Given the description of an element on the screen output the (x, y) to click on. 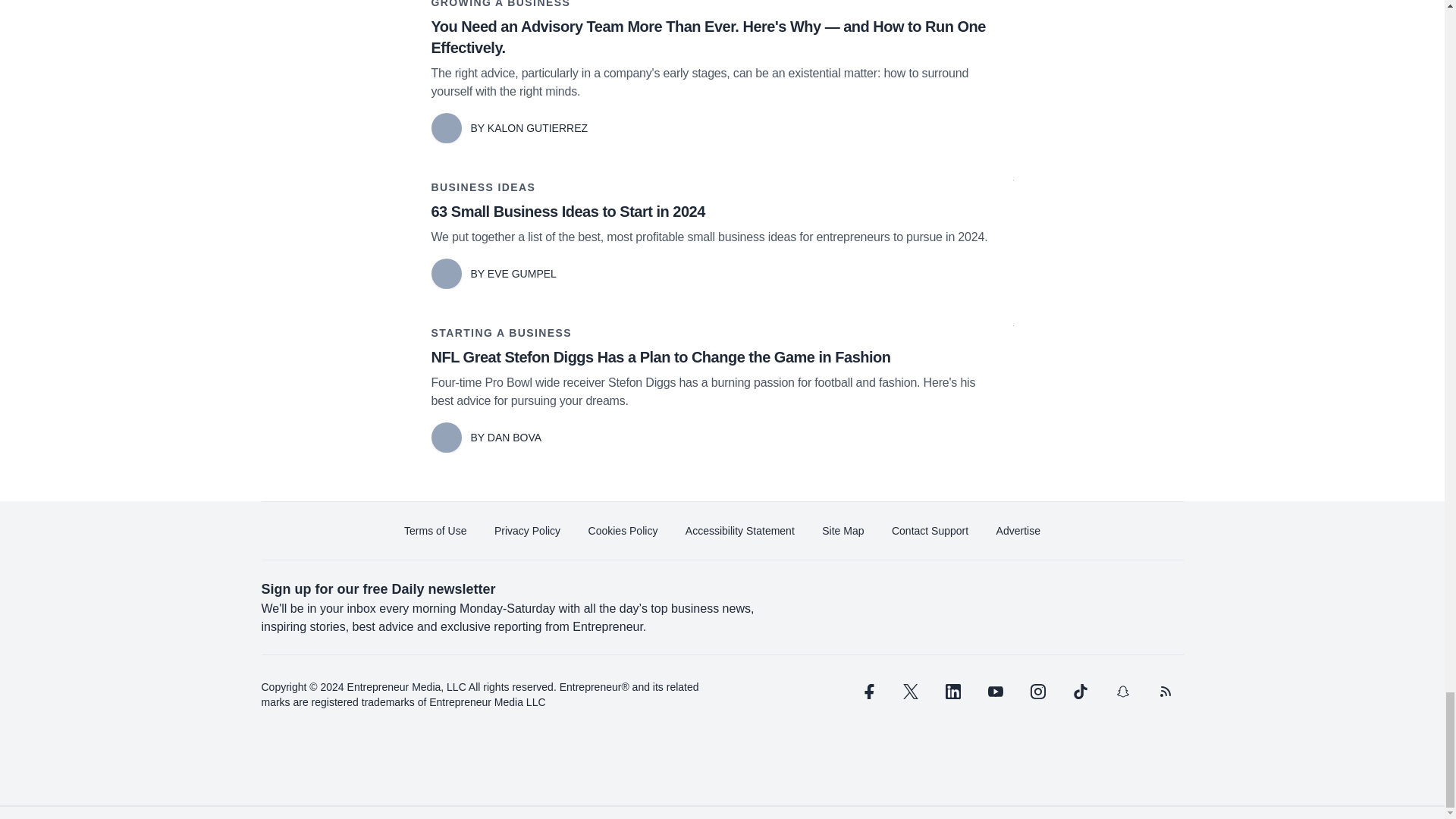
youtube (994, 691)
tiktok (1079, 691)
twitter (909, 691)
facebook (866, 691)
instagram (1037, 691)
linkedin (952, 691)
snapchat (1121, 691)
